Given the description of an element on the screen output the (x, y) to click on. 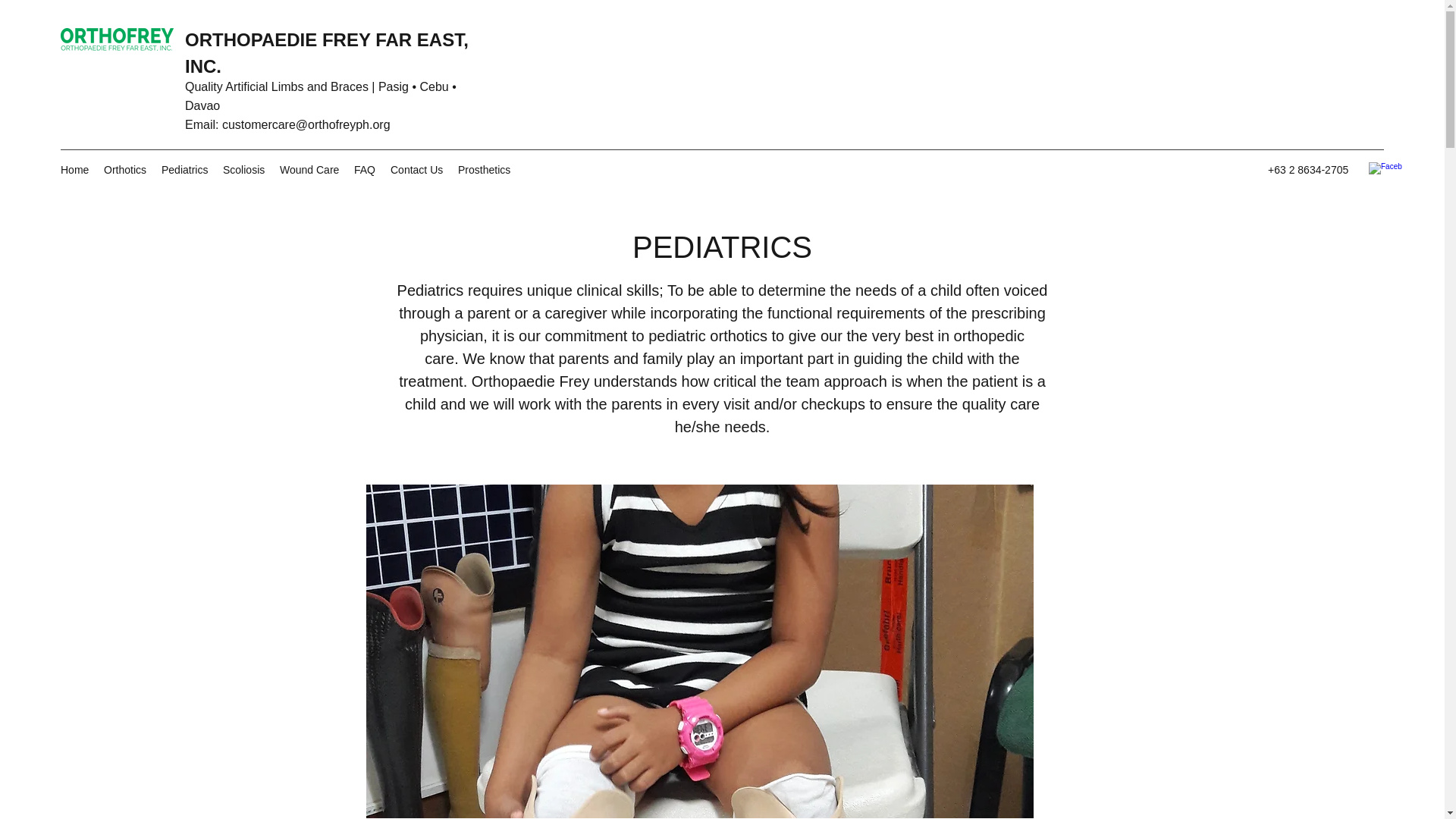
FAQ (364, 169)
Wound Care (309, 169)
ORTHOPAEDIE FREY FAR EAST, INC. (326, 52)
Orthotics (125, 169)
Pediatrics (184, 169)
Prosthetics (483, 169)
Contact Us (415, 169)
Scoliosis (243, 169)
Home (74, 169)
